Given the description of an element on the screen output the (x, y) to click on. 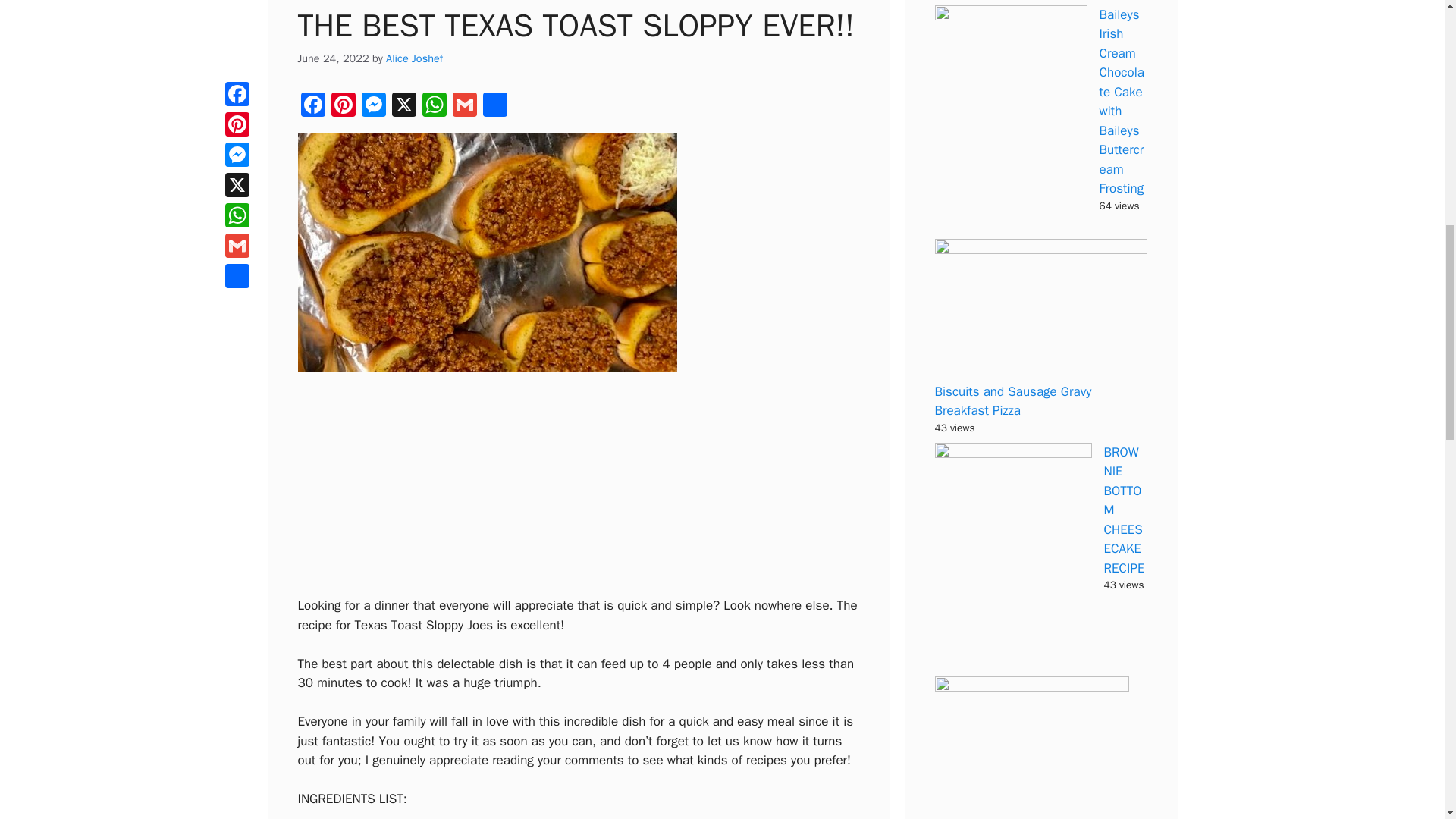
WhatsApp (433, 106)
Gmail (463, 106)
WhatsApp (433, 106)
Facebook (312, 106)
Pinterest (342, 106)
Facebook (312, 106)
Pinterest (342, 106)
Messenger (373, 106)
Gmail (463, 106)
X (403, 106)
